Given the description of an element on the screen output the (x, y) to click on. 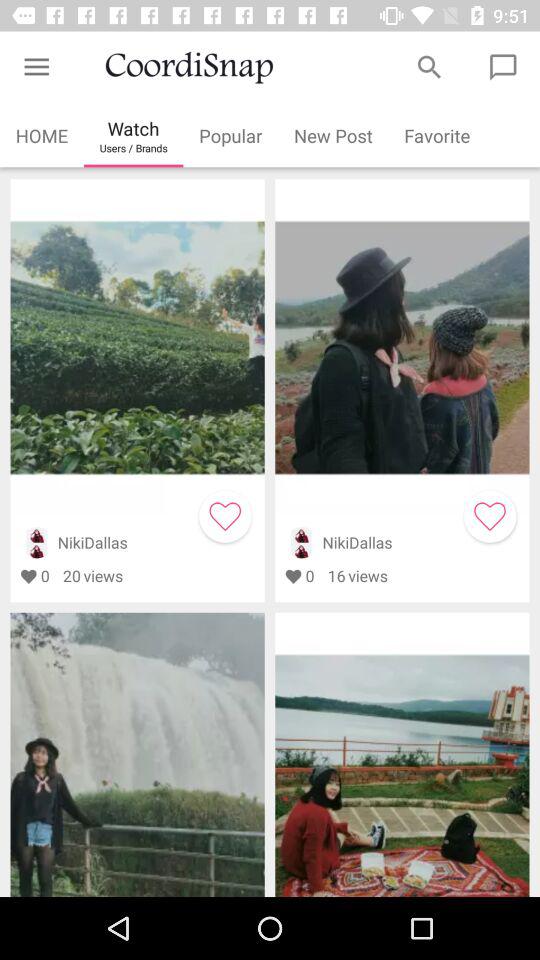
click icon above the favorite item (429, 67)
